Given the description of an element on the screen output the (x, y) to click on. 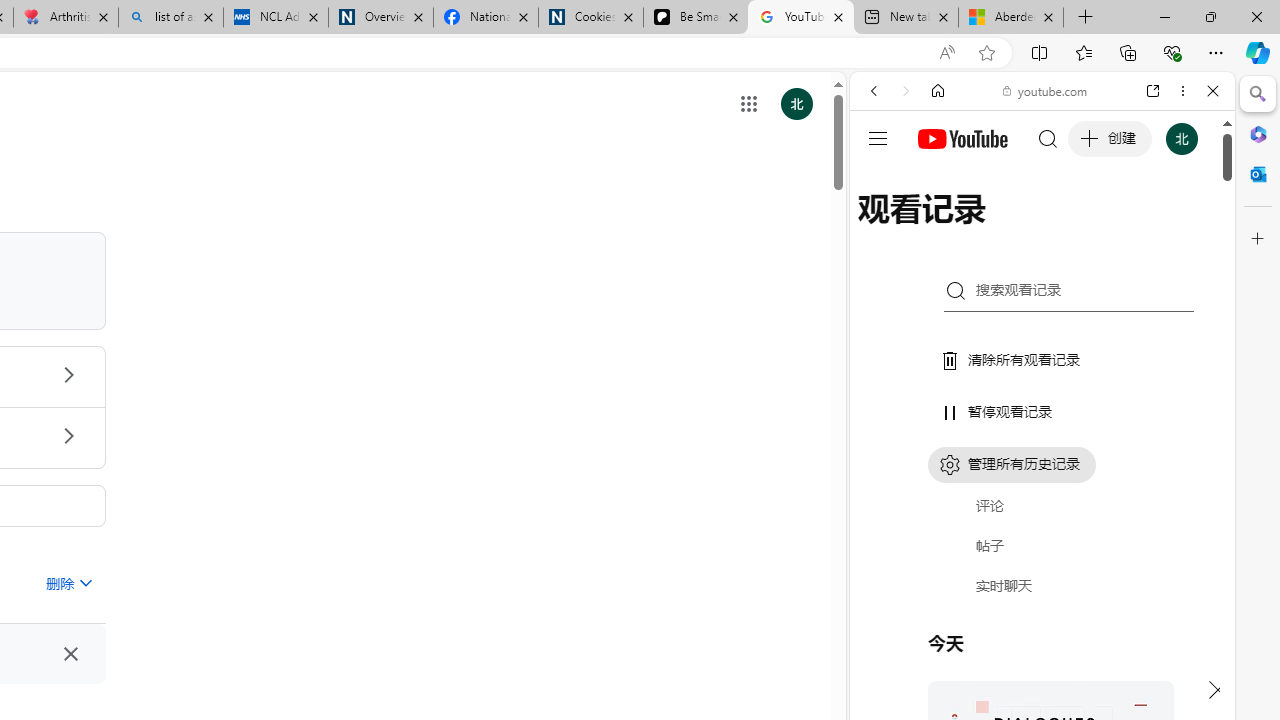
Music (1042, 543)
Search the web (1051, 137)
Preferences (1189, 228)
Forward (906, 91)
Trailer #2 [HD] (1042, 594)
list of asthma inhalers uk - Search (170, 17)
Class: gb_E (749, 103)
